Given the description of an element on the screen output the (x, y) to click on. 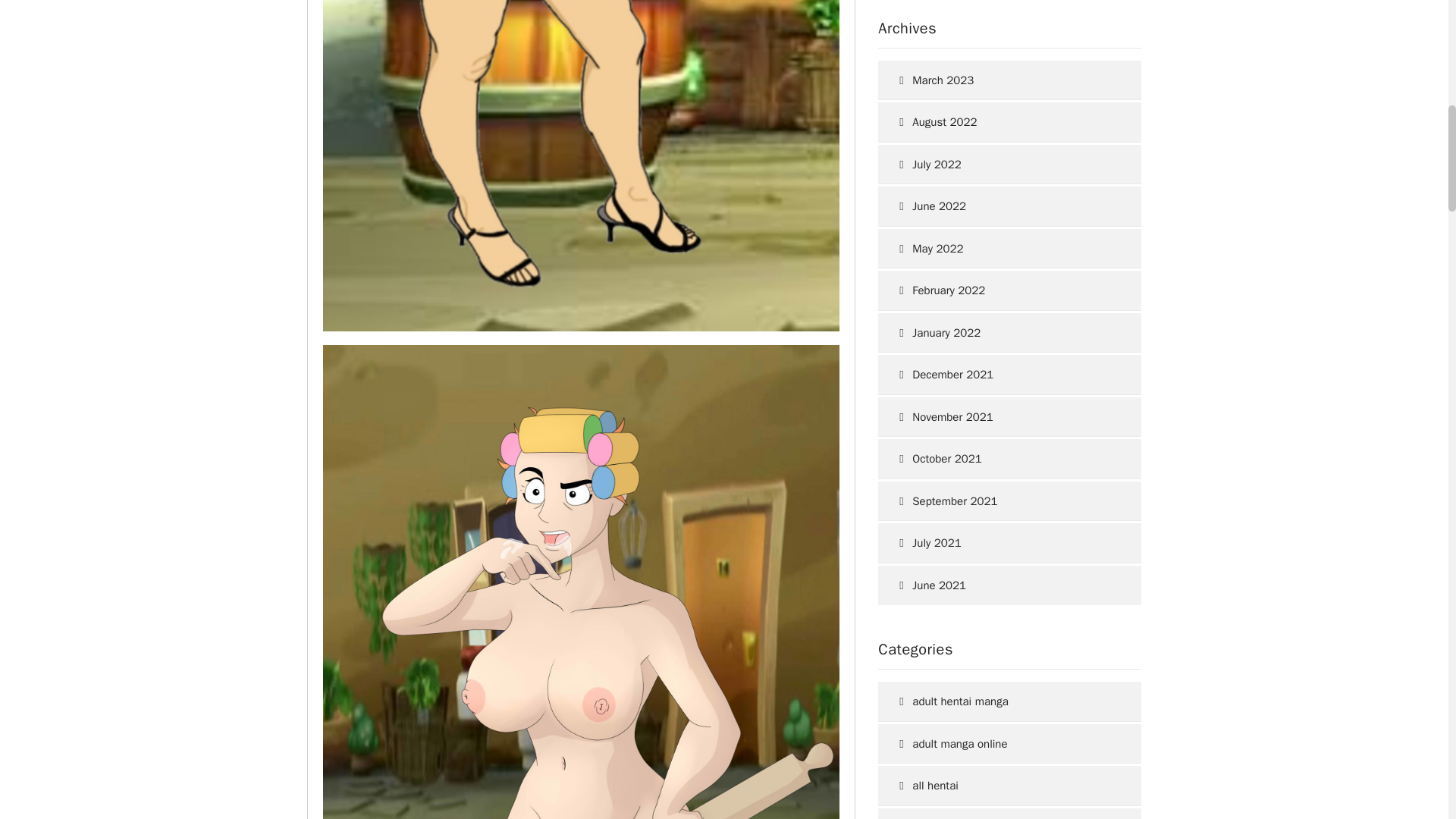
March 2023 (1003, 80)
November 2021 (1003, 417)
October 2021 (1003, 458)
September 2021 (1003, 501)
June 2022 (1003, 206)
June 2021 (1003, 585)
July 2022 (1003, 164)
adult manga online (1003, 743)
August 2022 (1003, 122)
January 2022 (1003, 332)
